Given the description of an element on the screen output the (x, y) to click on. 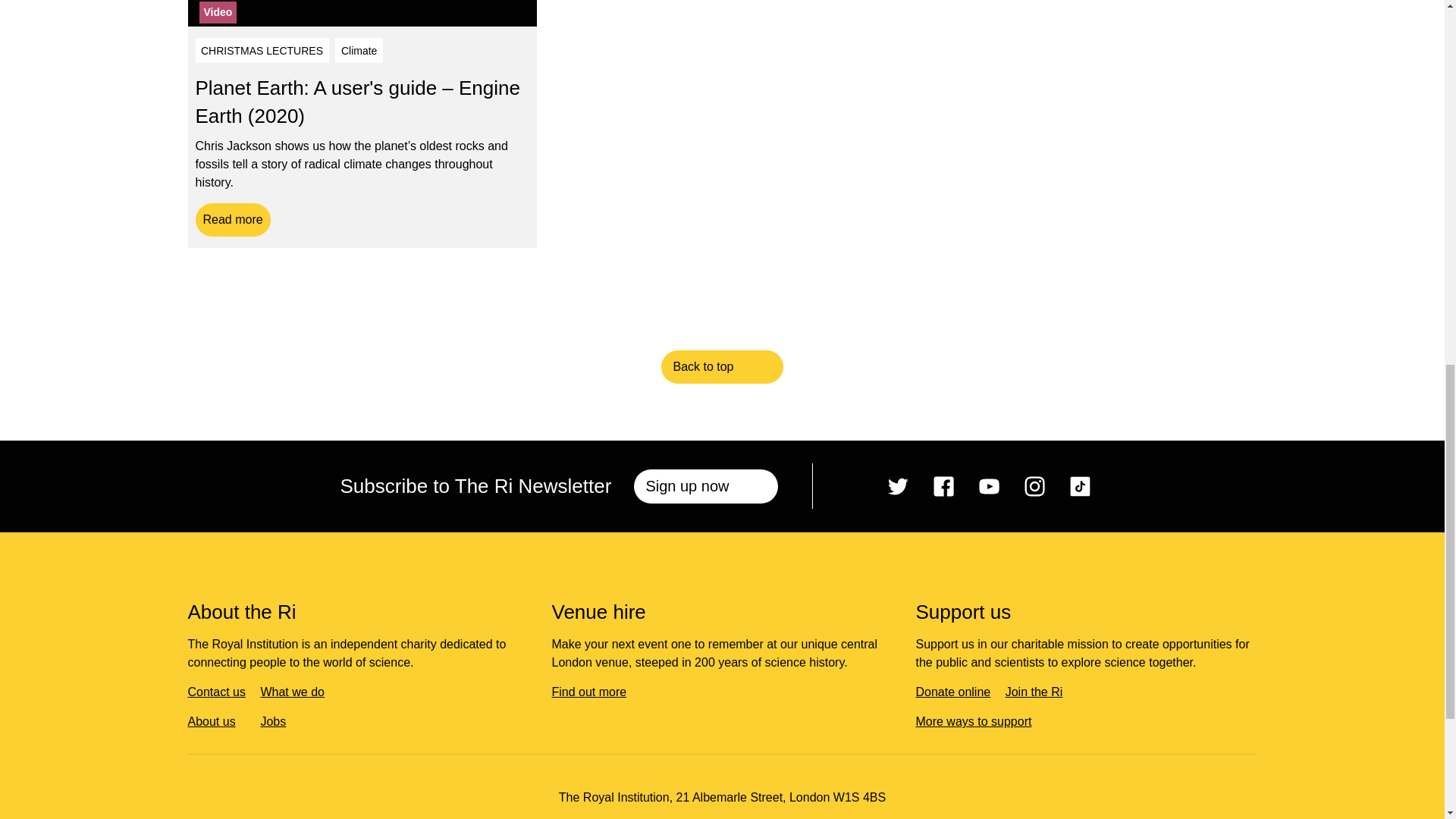
Museum (660, 818)
Contact us (222, 692)
About us (217, 721)
More ways to support (978, 721)
Open TikTok (1079, 486)
Open Twitter (897, 486)
Open YouTube (989, 486)
Back to top (722, 367)
Open Facebook (943, 486)
Find us (534, 818)
Find out more (594, 692)
What we do (297, 692)
Donate online (958, 692)
Jobs (278, 721)
Open Instagram (1034, 486)
